Given the description of an element on the screen output the (x, y) to click on. 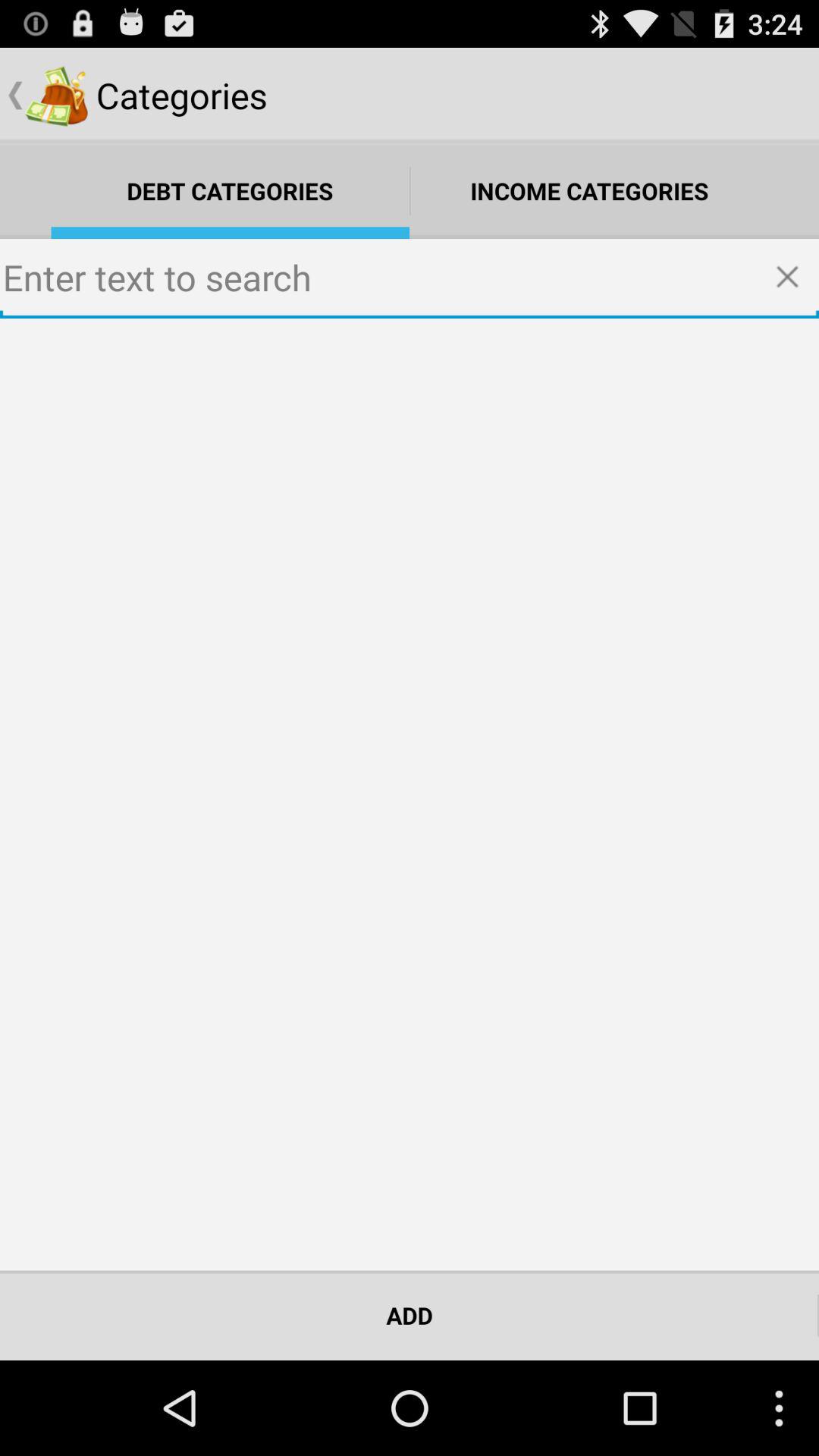
select the add button (409, 1315)
